Given the description of an element on the screen output the (x, y) to click on. 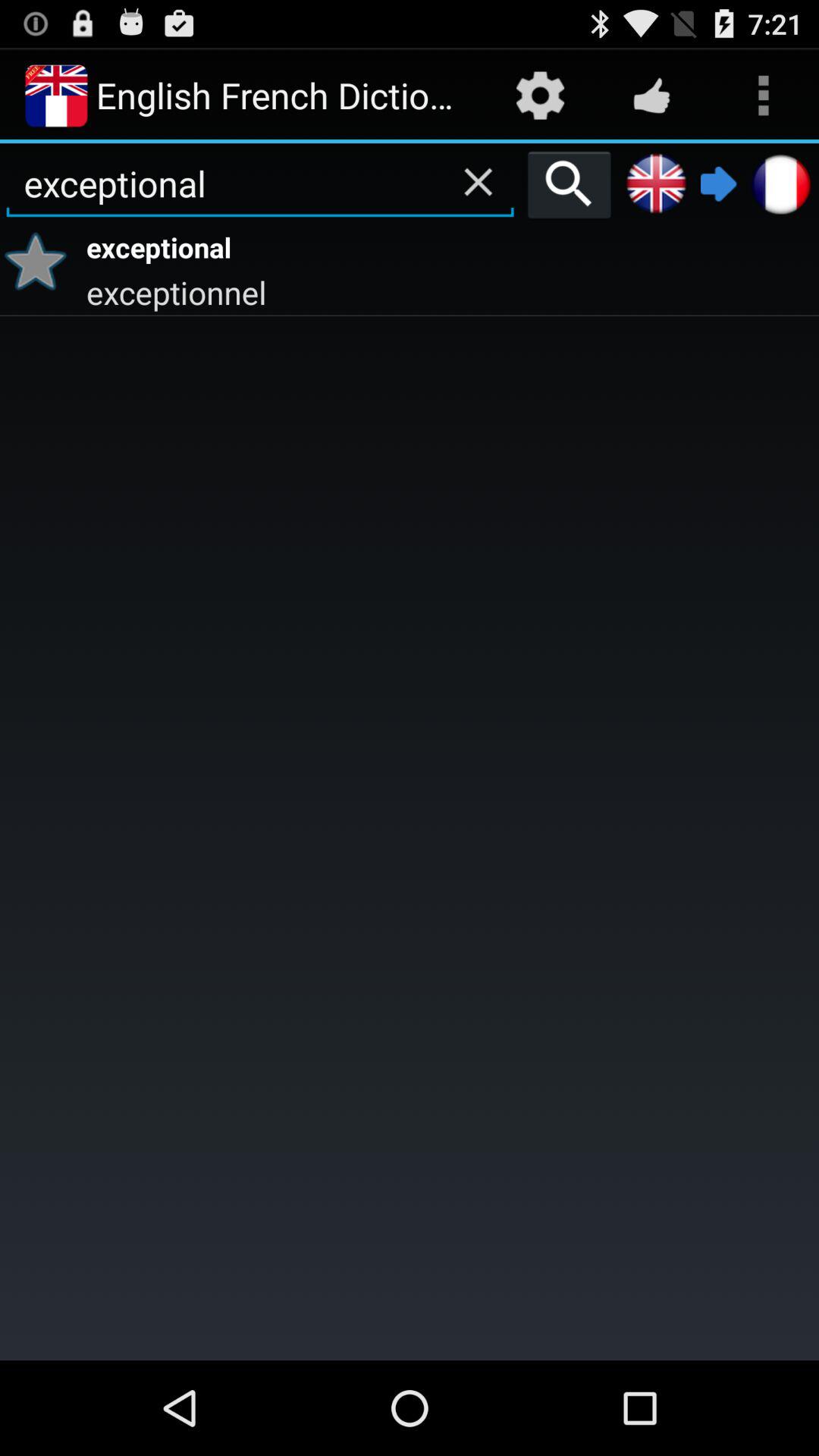
launch the icon next to exceptional (569, 184)
